Given the description of an element on the screen output the (x, y) to click on. 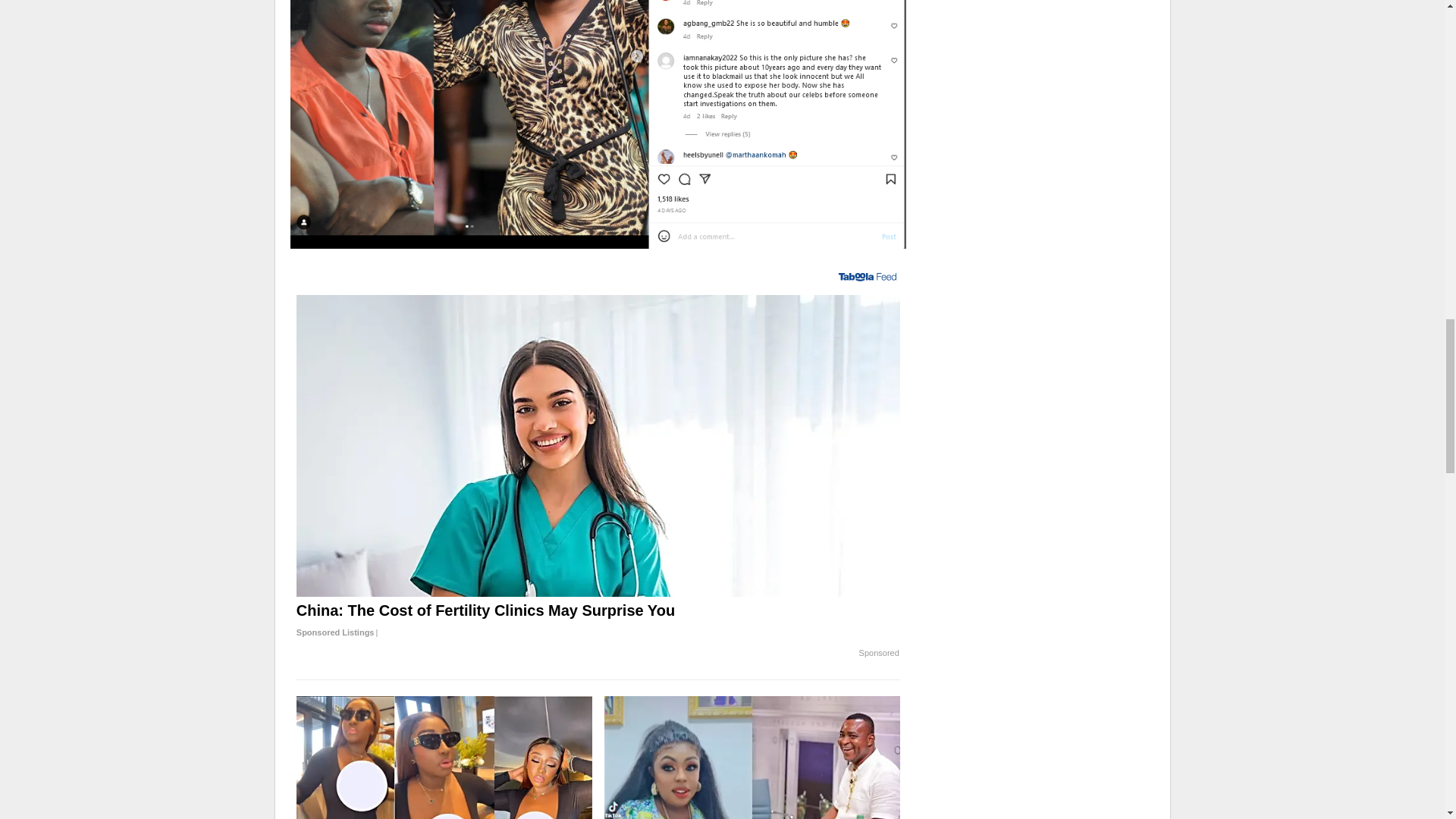
China: The Cost of Fertility Clinics May Surprise You (598, 621)
